Given the description of an element on the screen output the (x, y) to click on. 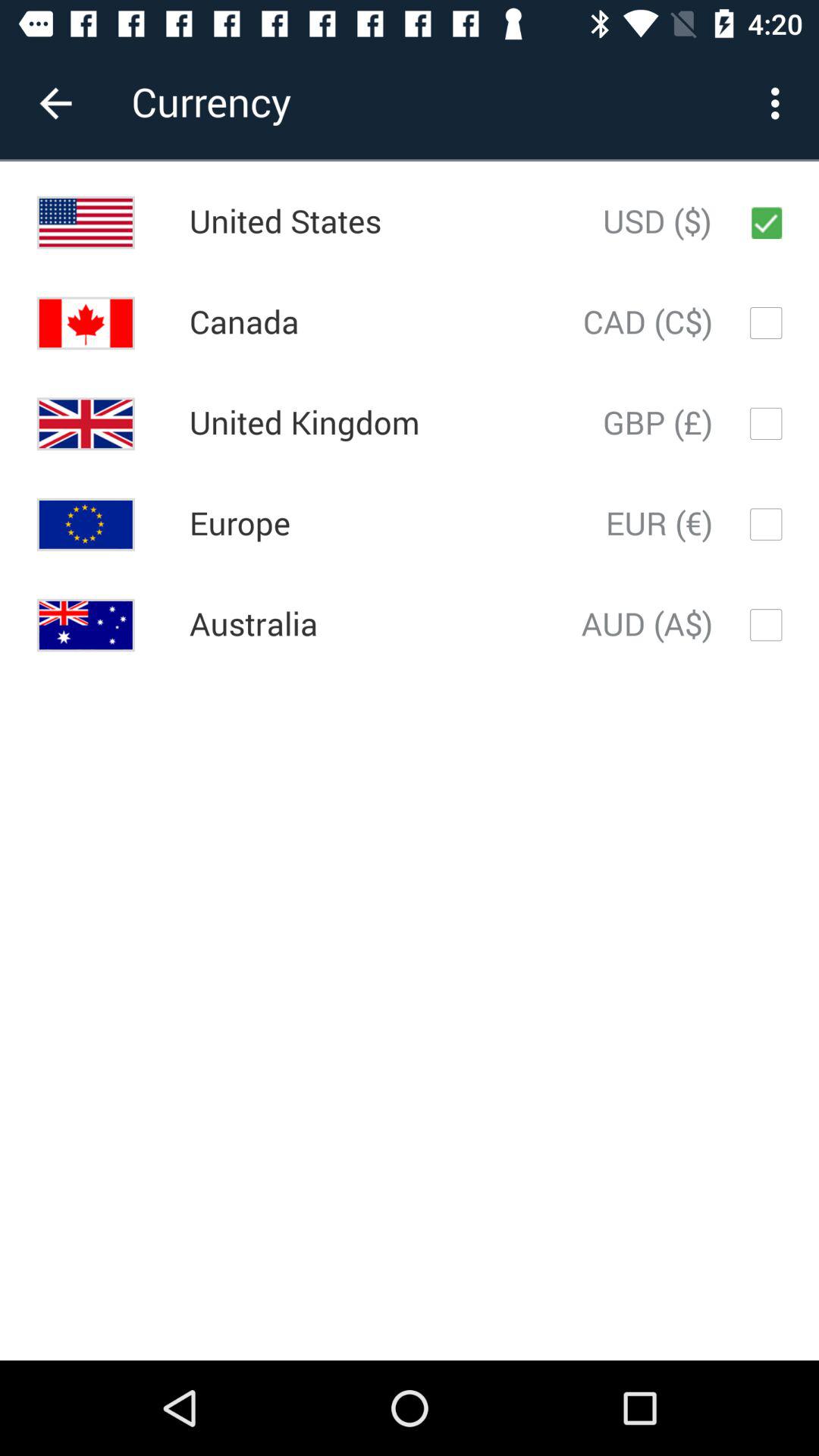
press item next to aud (a$) item (253, 624)
